Given the description of an element on the screen output the (x, y) to click on. 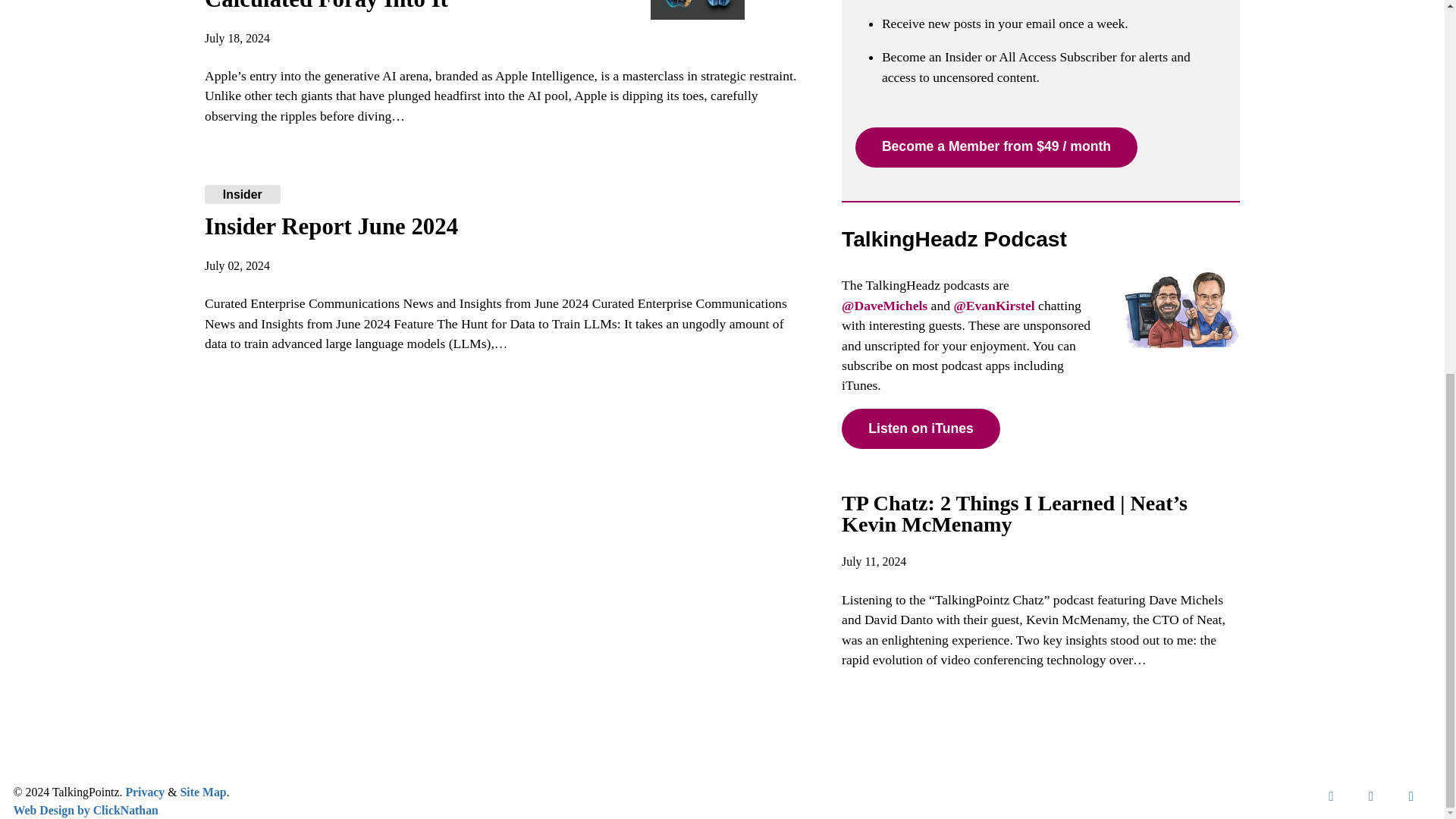
Insider (242, 194)
Listen on iTunes (920, 428)
Privacy (144, 791)
Insider Report June 2024 (331, 226)
